Given the description of an element on the screen output the (x, y) to click on. 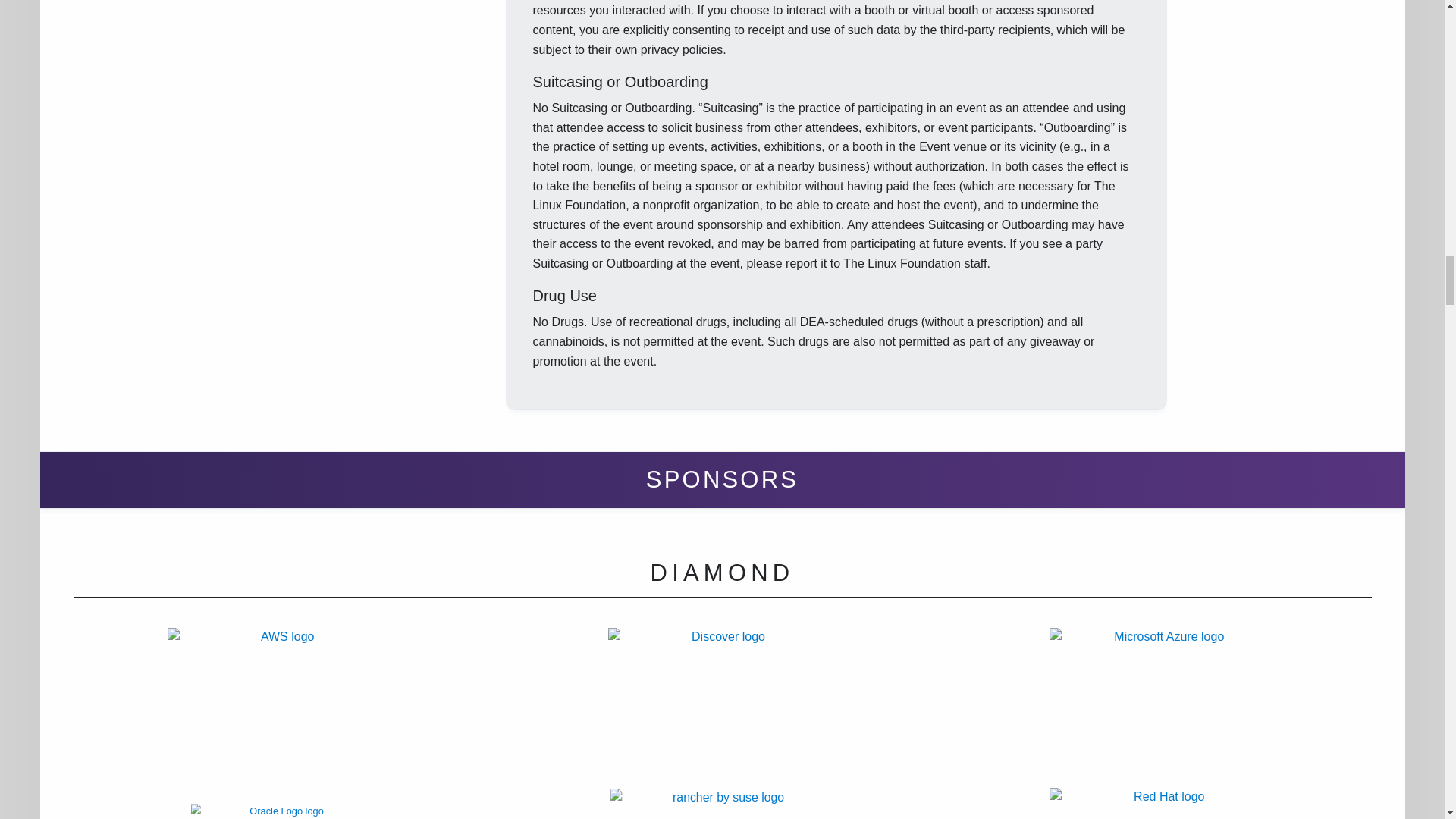
Go to Red Hat (1162, 803)
Go to Discover (722, 707)
Go to AWS (281, 707)
Go to Oracle Logo (323, 811)
Go to Microsoft Azure (1162, 707)
Go to rancher by suse (724, 804)
